Given the description of an element on the screen output the (x, y) to click on. 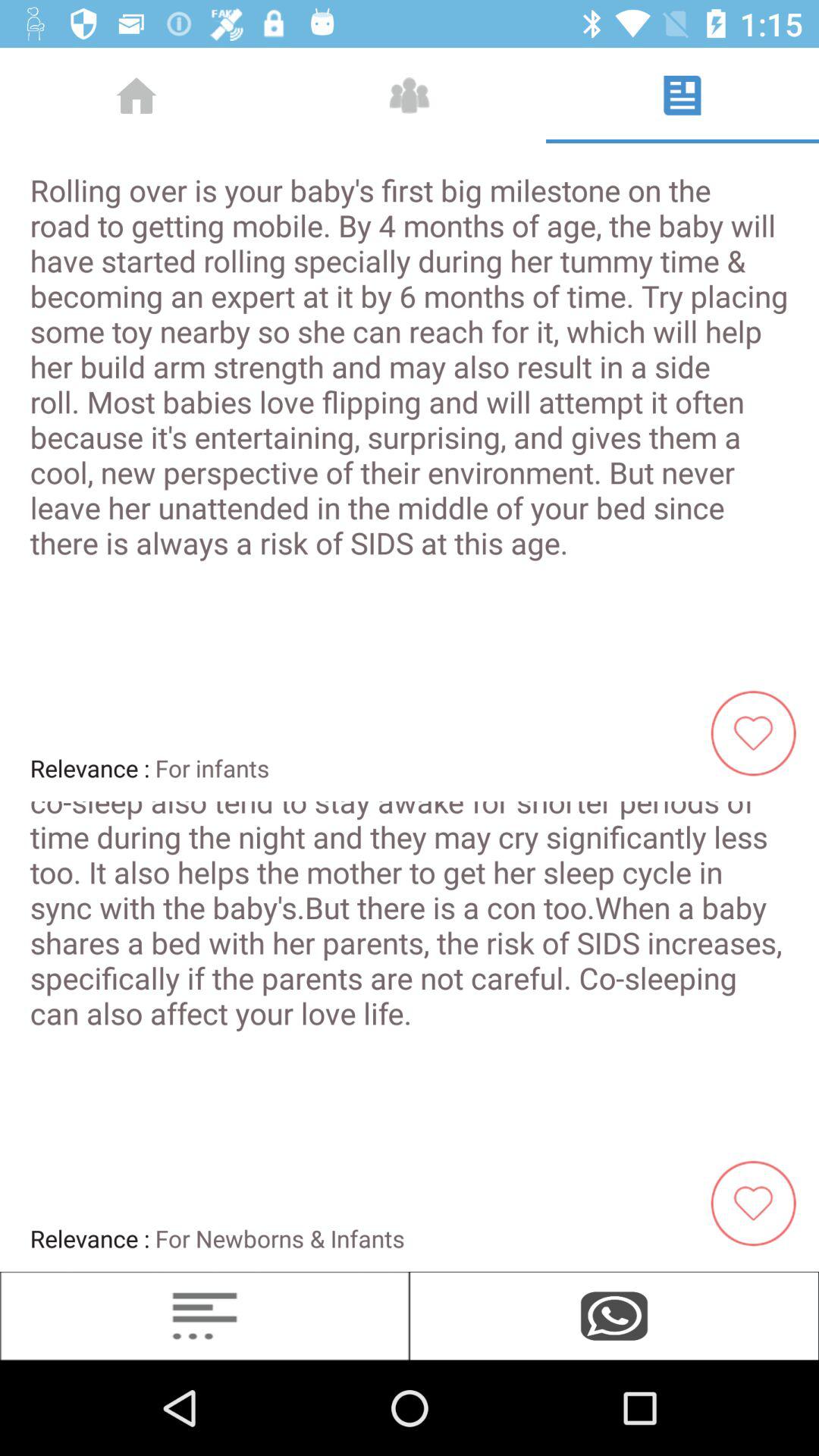
click on the home icon (136, 95)
select the icon which is right to the home icon (409, 95)
select the wats app icon which is in the bottom (614, 1315)
click on the bottom right corner option that looks like a heart (759, 1202)
click on the heart option that is present on top of the whatsapp logo (759, 1202)
